Given the description of an element on the screen output the (x, y) to click on. 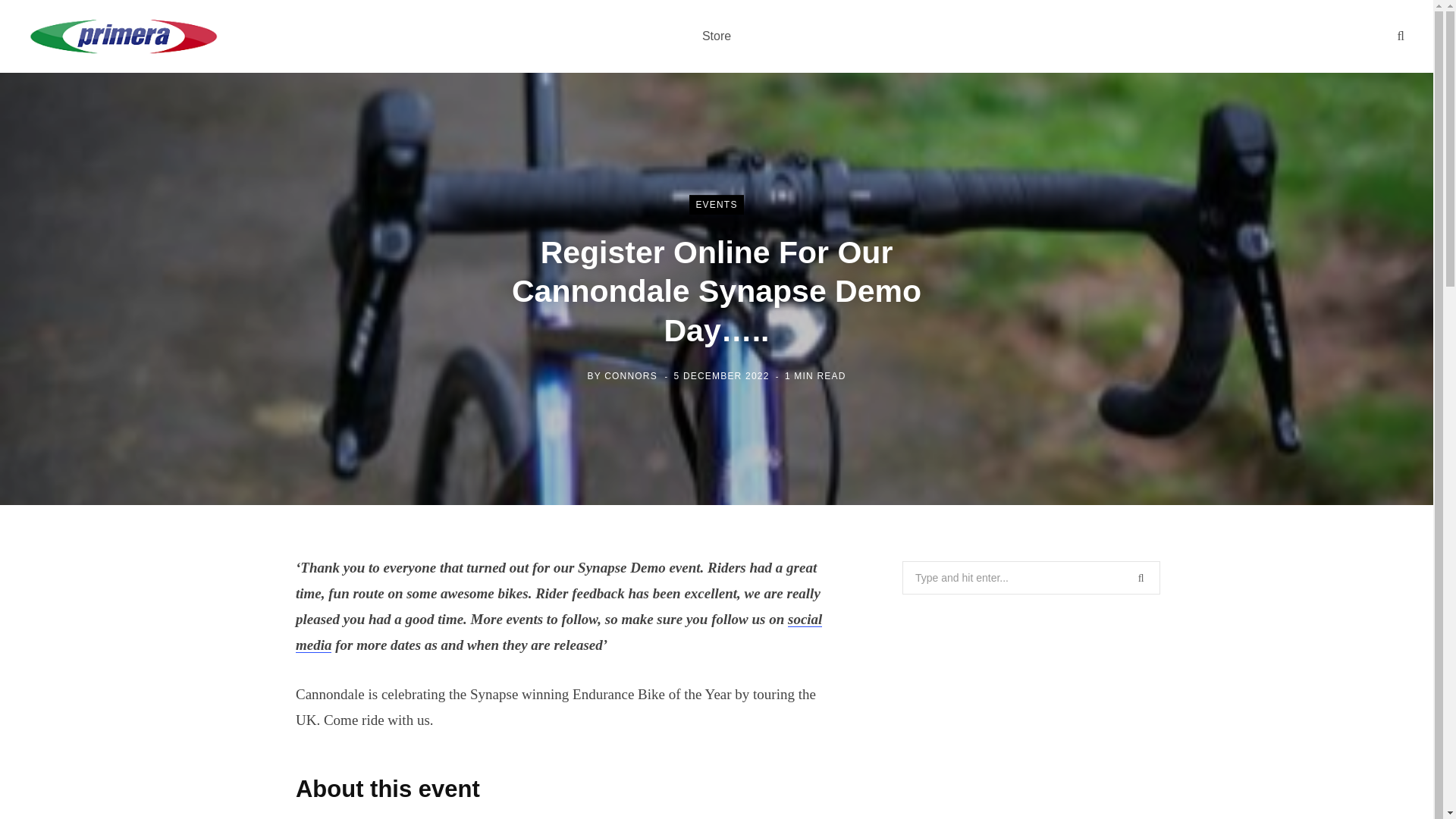
EVENTS (715, 204)
social media (558, 631)
CONNORS (631, 376)
Primera Sports Blog (123, 36)
Posts by connors (631, 376)
